Given the description of an element on the screen output the (x, y) to click on. 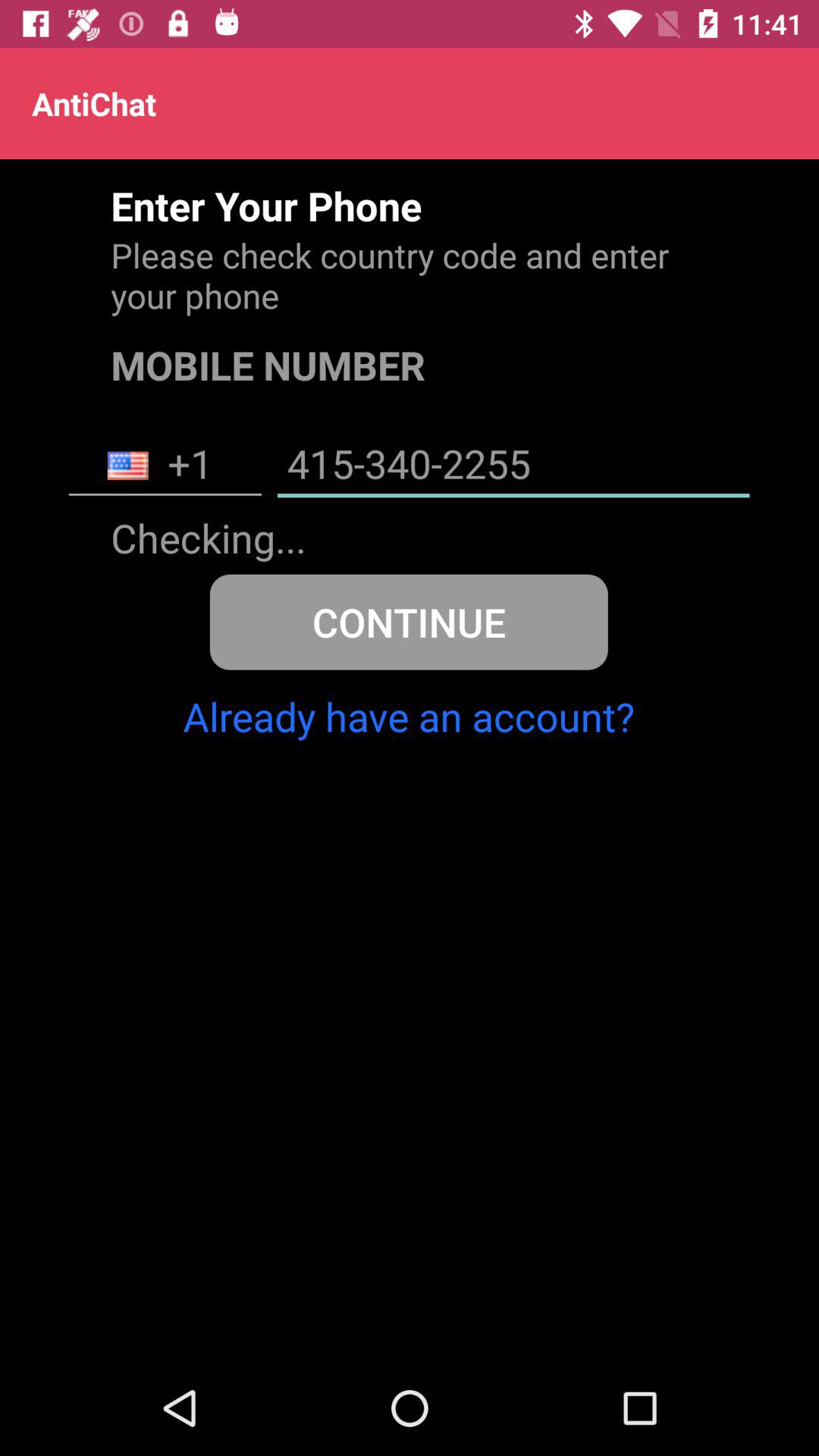
open the item below the continue item (408, 715)
